Given the description of an element on the screen output the (x, y) to click on. 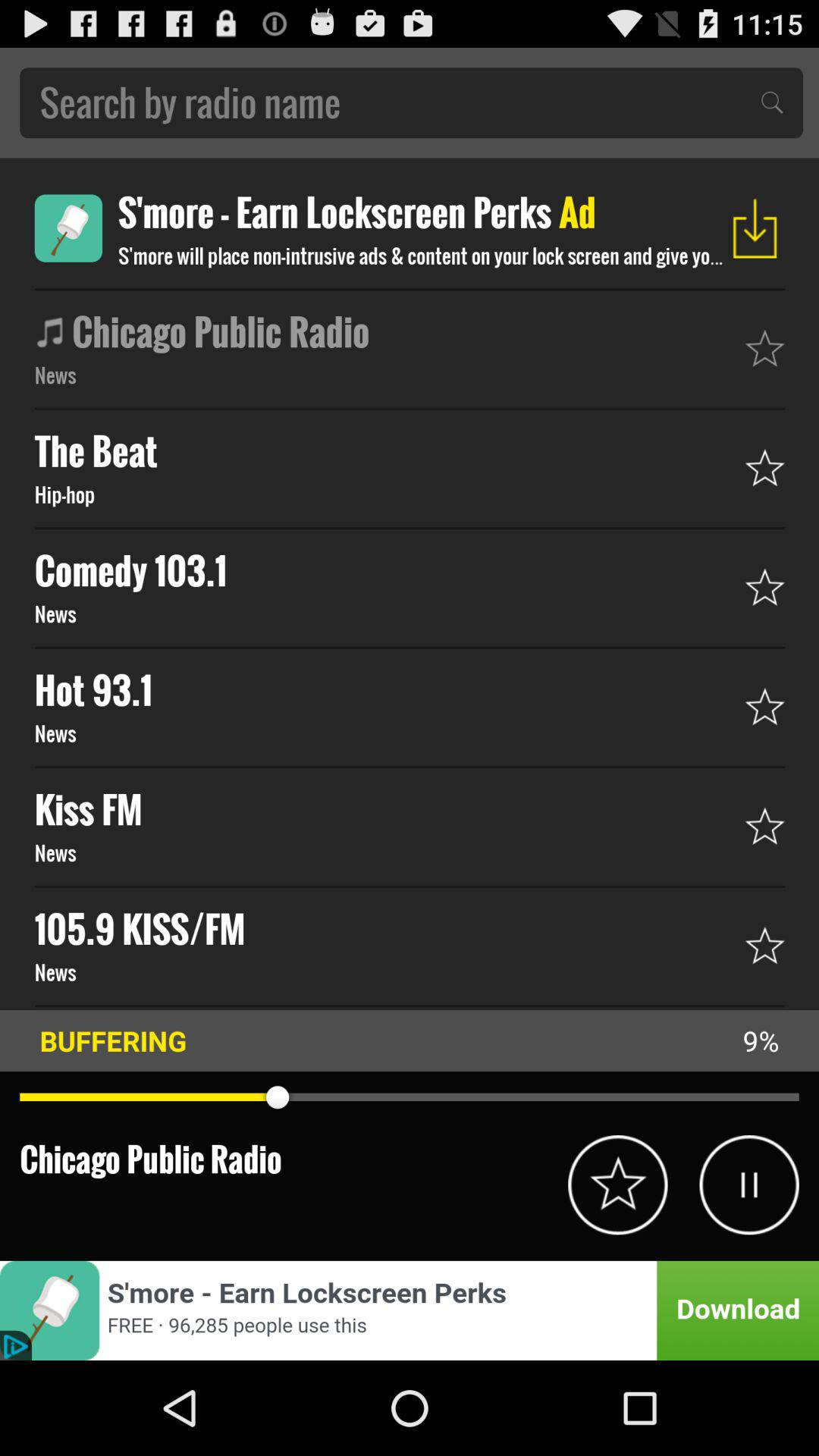
search by radio bar (411, 102)
